Given the description of an element on the screen output the (x, y) to click on. 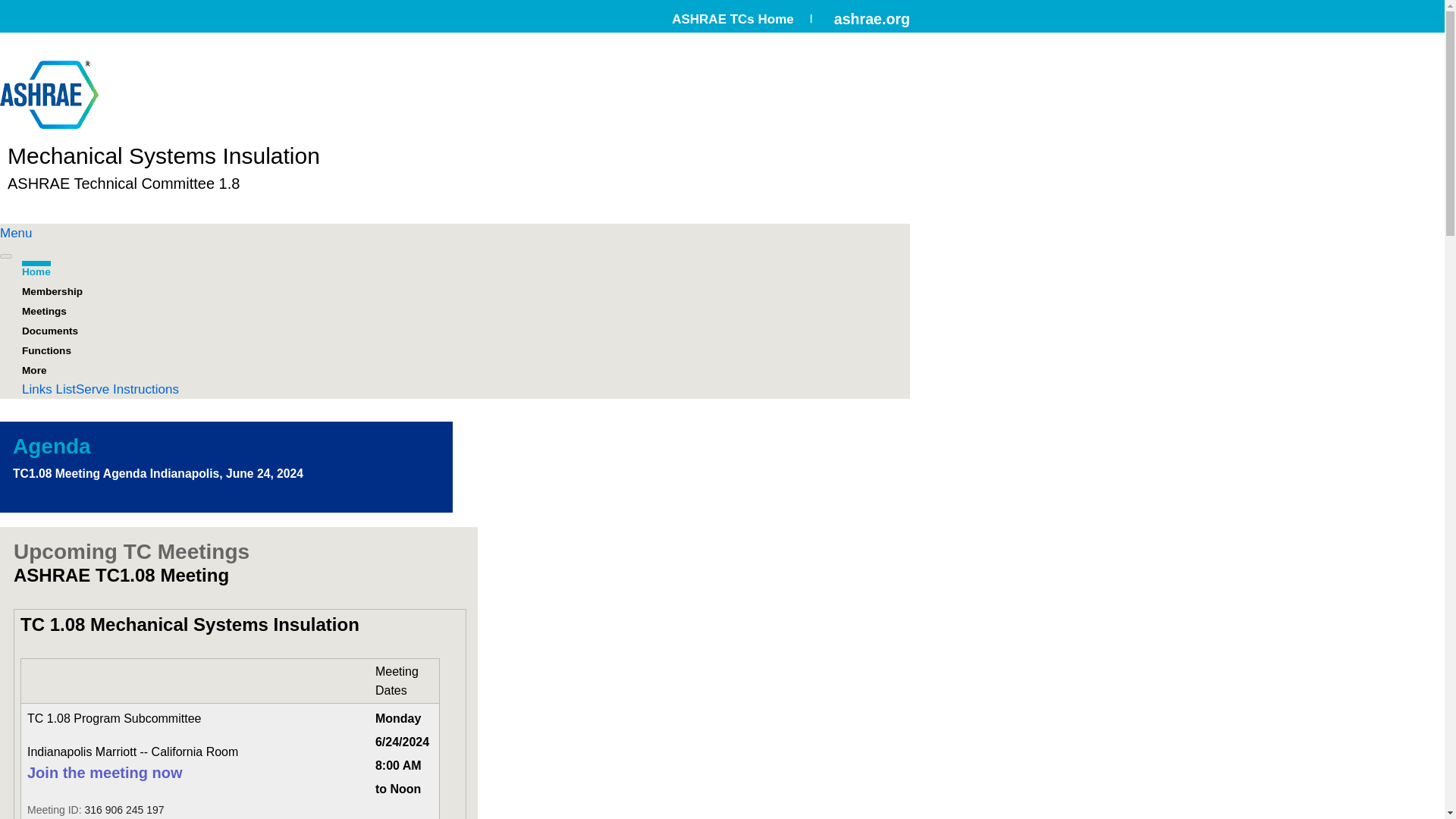
Documents (49, 328)
ashrae.org (872, 18)
Meeting join link (104, 773)
Menu (16, 233)
More (33, 367)
TC1.08 Meeting Agenda Indianapolis, June 24, 2024 (157, 474)
ListServe Instructions (117, 389)
Meetings (43, 308)
Home (35, 269)
Functions (46, 347)
Links (36, 389)
ASHRAE TCs Home (732, 19)
Membership (51, 288)
Join the meeting now (104, 773)
